Given the description of an element on the screen output the (x, y) to click on. 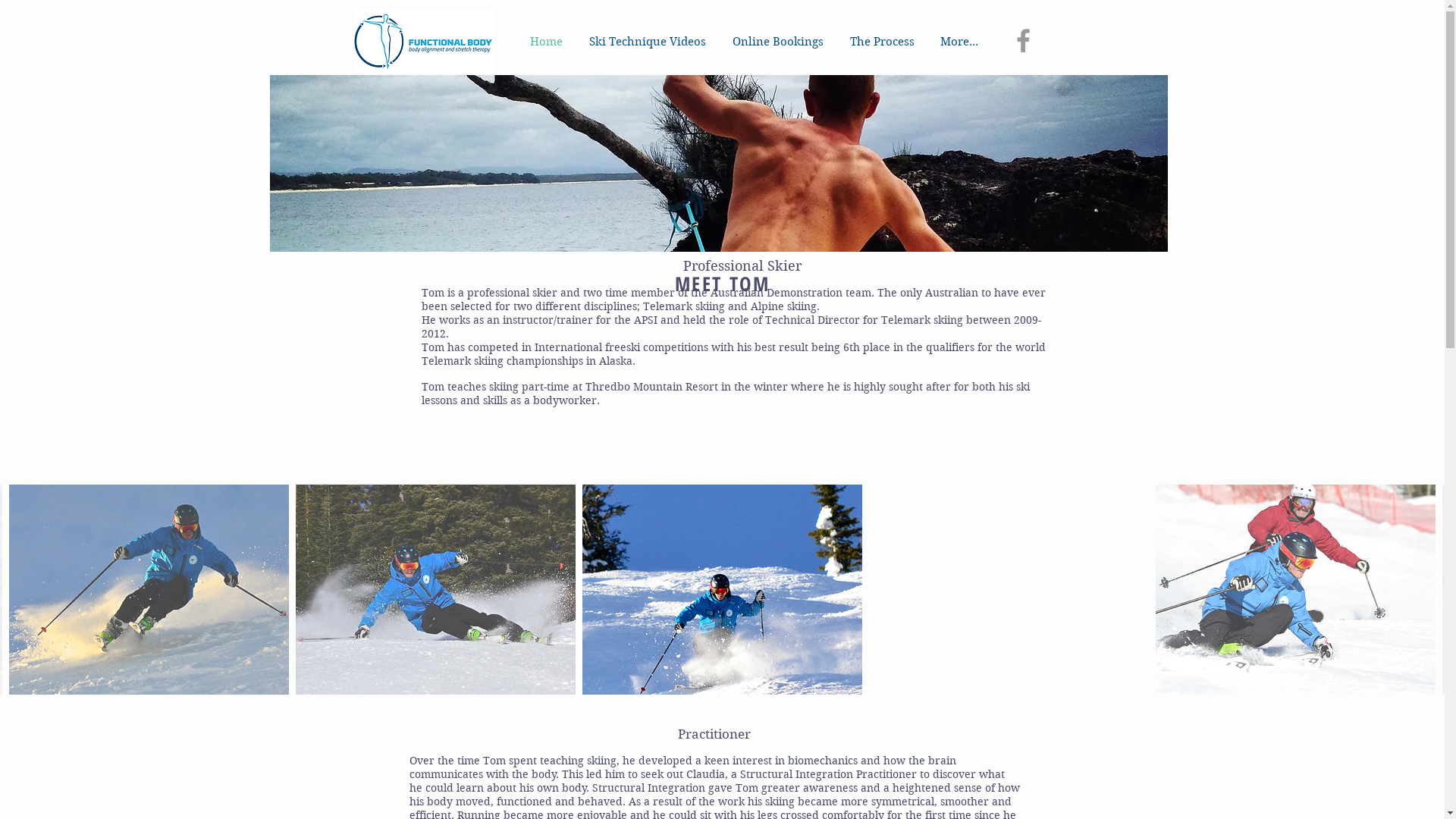
Ski Technique Videos Element type: text (647, 41)
Home Element type: text (546, 41)
The Process Element type: text (882, 41)
Balance is key.jpg Element type: hover (718, 163)
Functional Body Sydney Element type: hover (423, 41)
Log In Element type: text (1014, 120)
Online Bookings Element type: text (777, 41)
0 Element type: text (1080, 120)
